Given the description of an element on the screen output the (x, y) to click on. 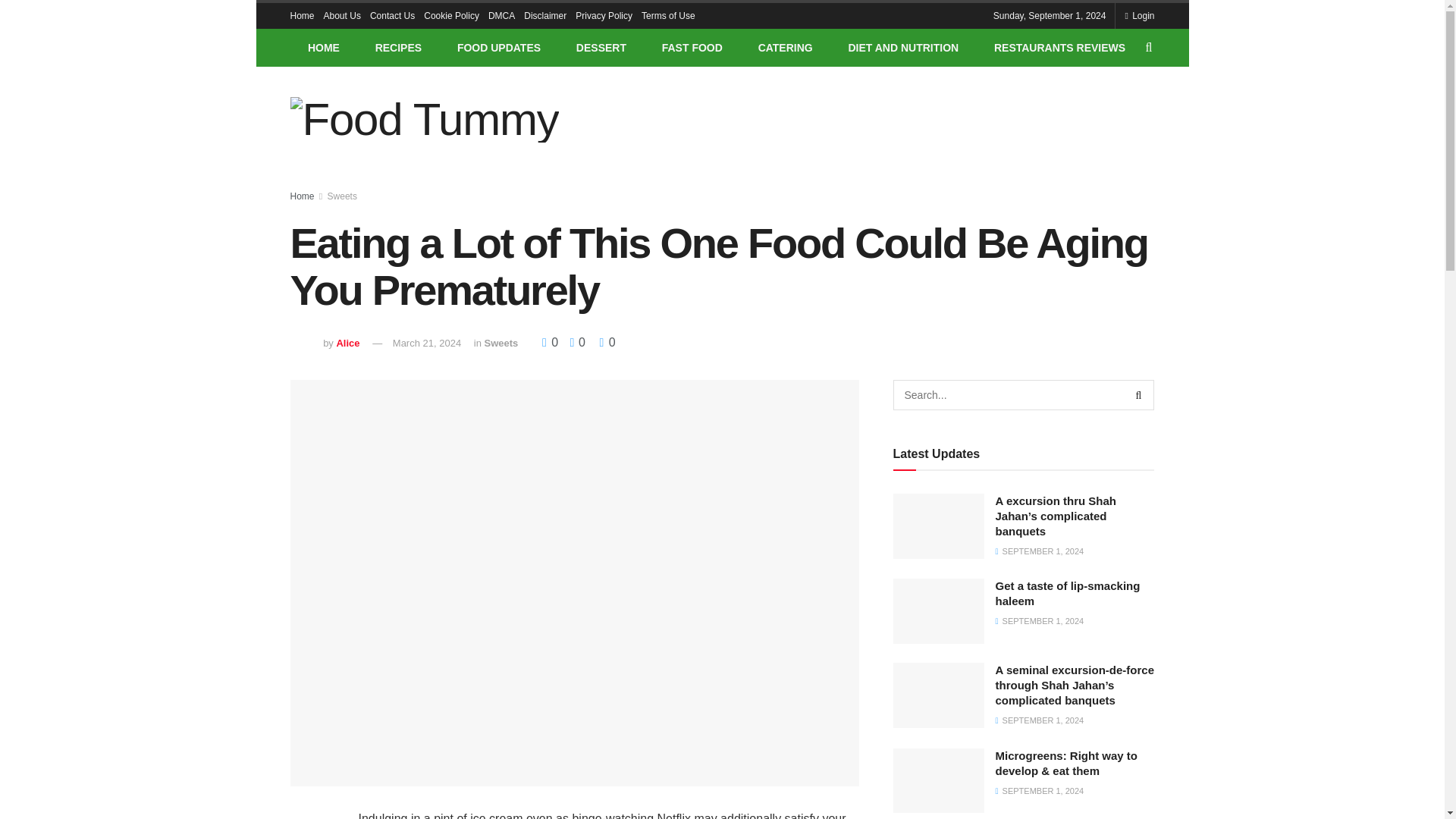
Home (301, 15)
FAST FOOD (691, 47)
RECIPES (397, 47)
CATERING (784, 47)
DIET AND NUTRITION (902, 47)
DMCA (501, 15)
Terms of Use (668, 15)
Disclaimer (545, 15)
FOOD UPDATES (499, 47)
DESSERT (600, 47)
